Given the description of an element on the screen output the (x, y) to click on. 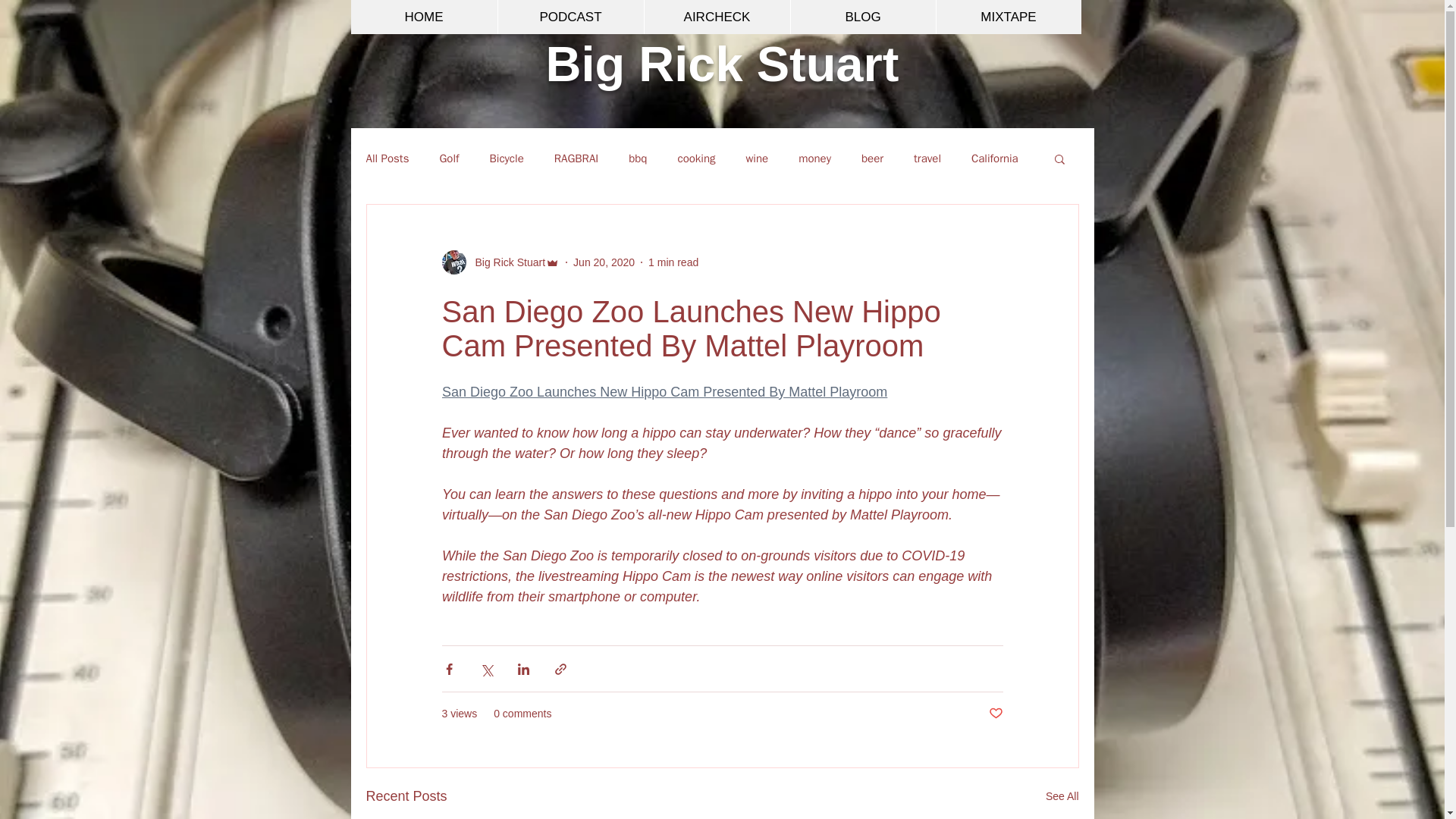
1 min read (672, 262)
HOME (423, 17)
bbq (637, 158)
BLOG (863, 17)
Bicycle (506, 158)
RAGBRAI (576, 158)
Golf (448, 158)
Jun 20, 2020 (603, 262)
money (814, 158)
